Given the description of an element on the screen output the (x, y) to click on. 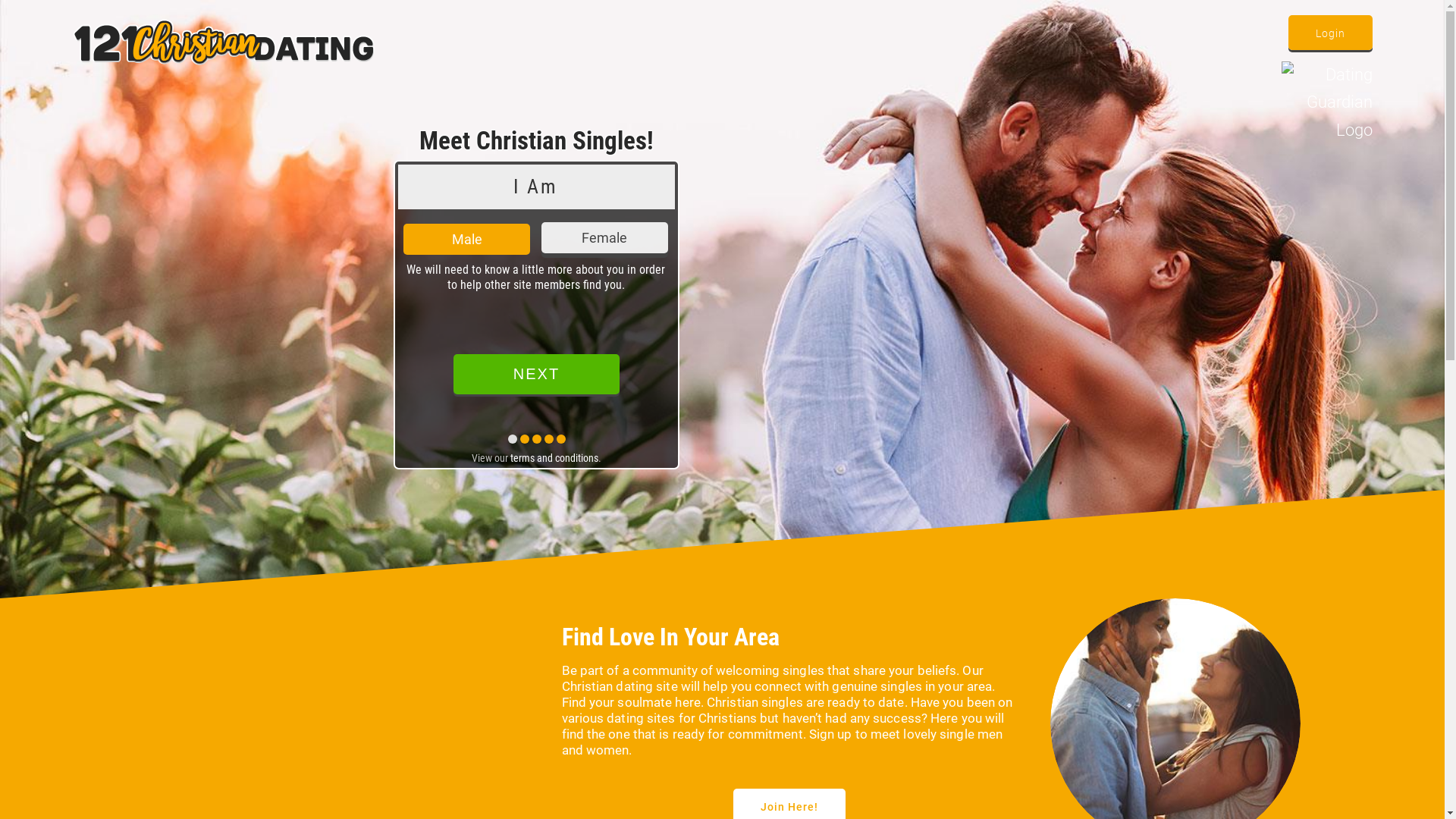
Login Element type: text (1330, 32)
Male Element type: text (466, 238)
terms and conditions Element type: text (554, 457)
Female Element type: text (604, 237)
1 Element type: text (741, 237)
2 Element type: text (879, 237)
